Given the description of an element on the screen output the (x, y) to click on. 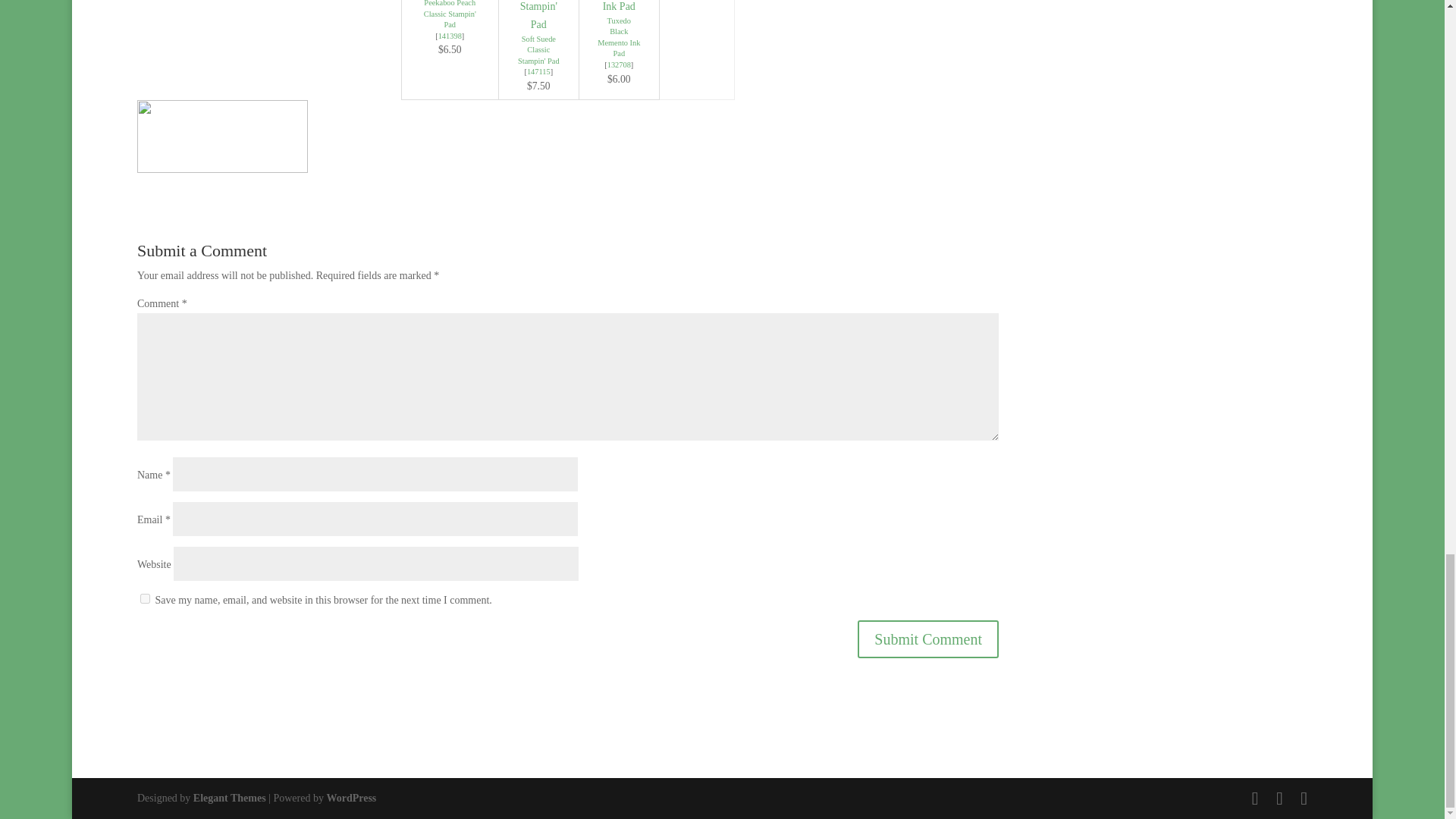
Peekaboo Peach Classic Stampin' Pad (449, 14)
Submit Comment (927, 638)
Soft Suede Classic Stampin' Pad (538, 50)
yes (144, 598)
141398 (449, 35)
